Given the description of an element on the screen output the (x, y) to click on. 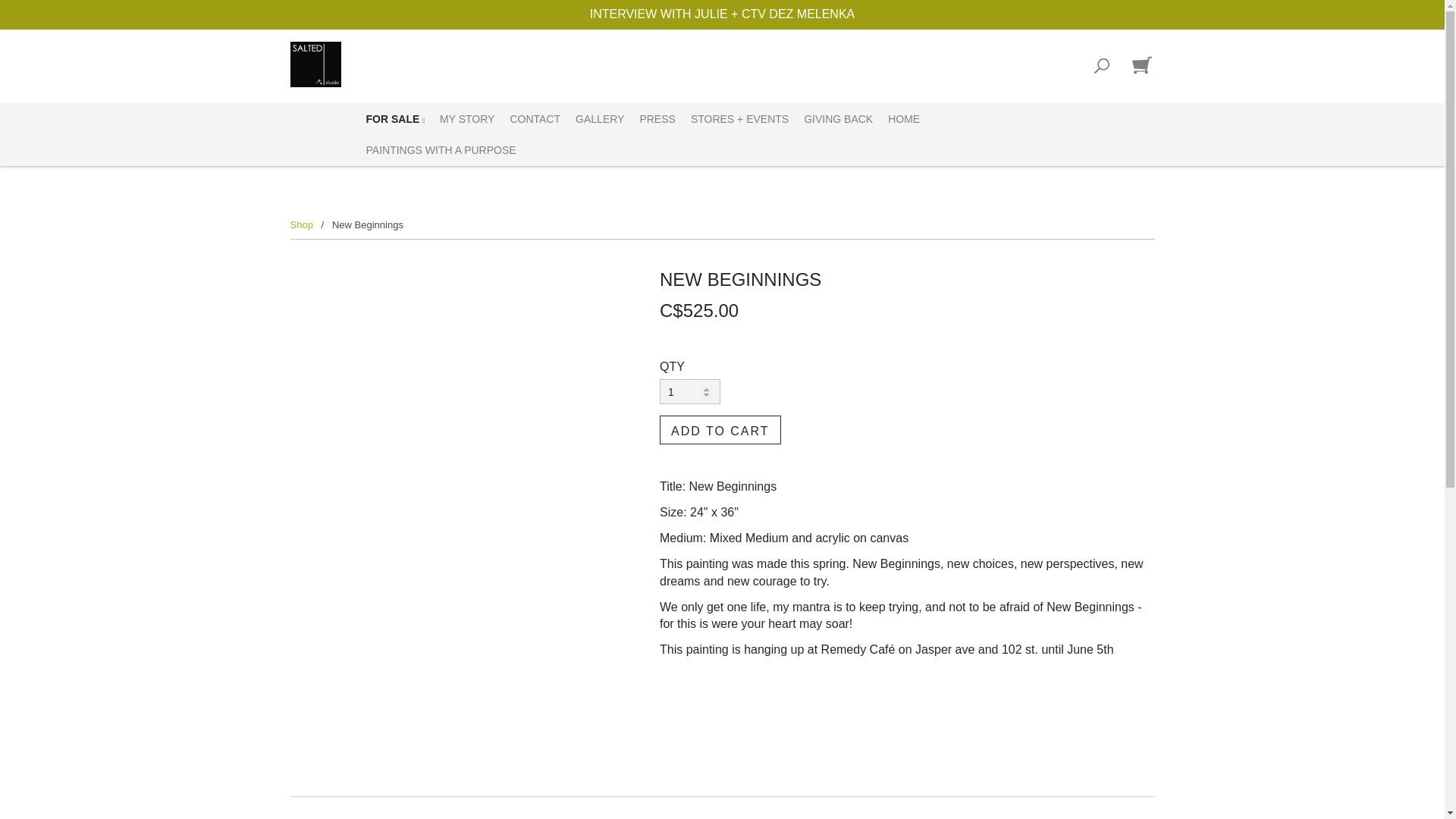
PAINTINGS WITH A PURPOSE (440, 150)
MY STORY (467, 119)
Add to Cart (719, 429)
PRESS (656, 119)
Shop (301, 224)
HOME (903, 119)
FOR SALE (395, 119)
Add to Cart (719, 429)
CONTACT (534, 119)
GALLERY (599, 119)
GIVING BACK (838, 119)
1 (689, 391)
